Given the description of an element on the screen output the (x, y) to click on. 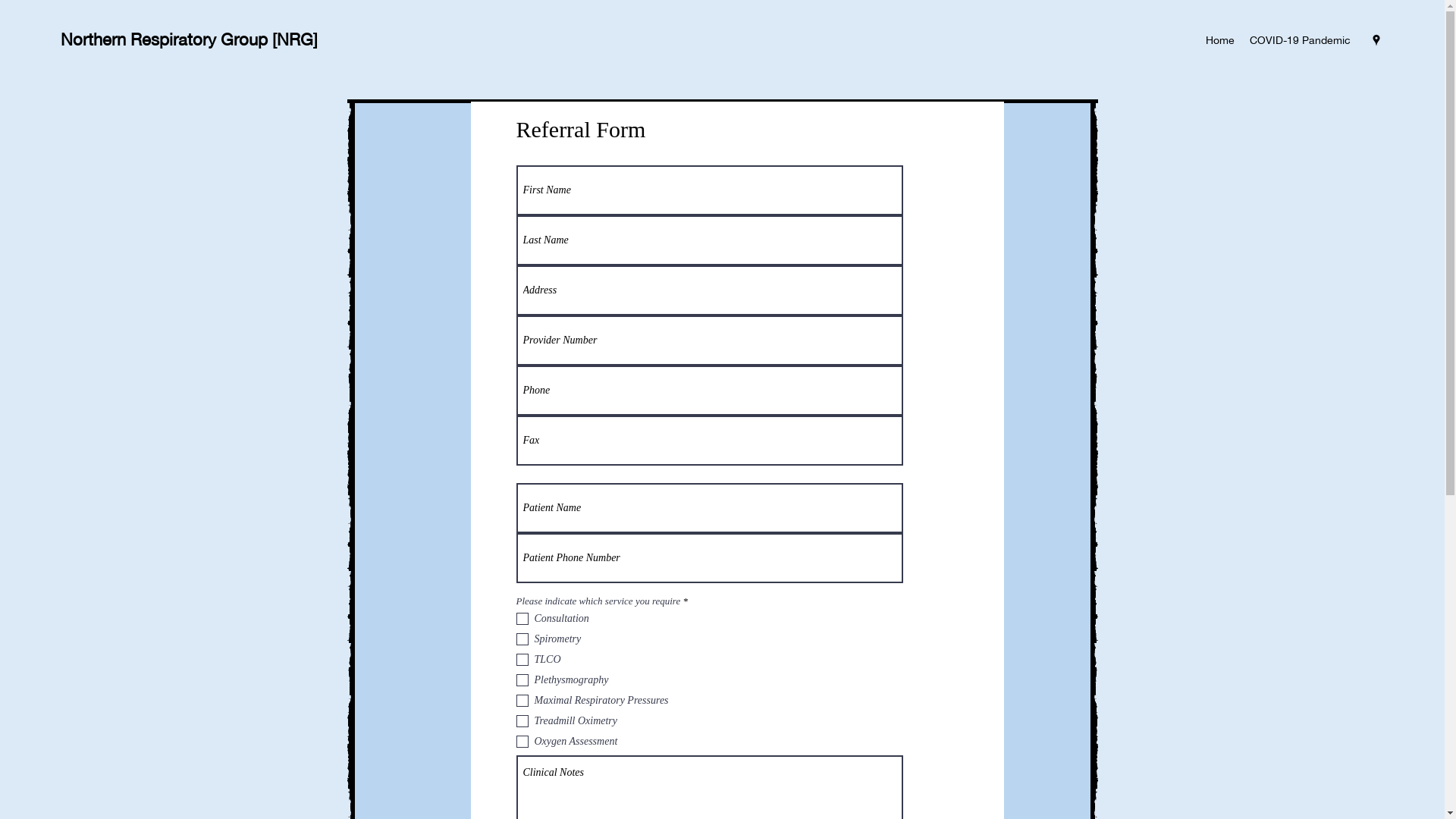
Northern Respiratory Group [NRG] Element type: text (188, 39)
COVID-19 Pandemic Element type: text (1300, 39)
Home Element type: text (1220, 39)
